Given the description of an element on the screen output the (x, y) to click on. 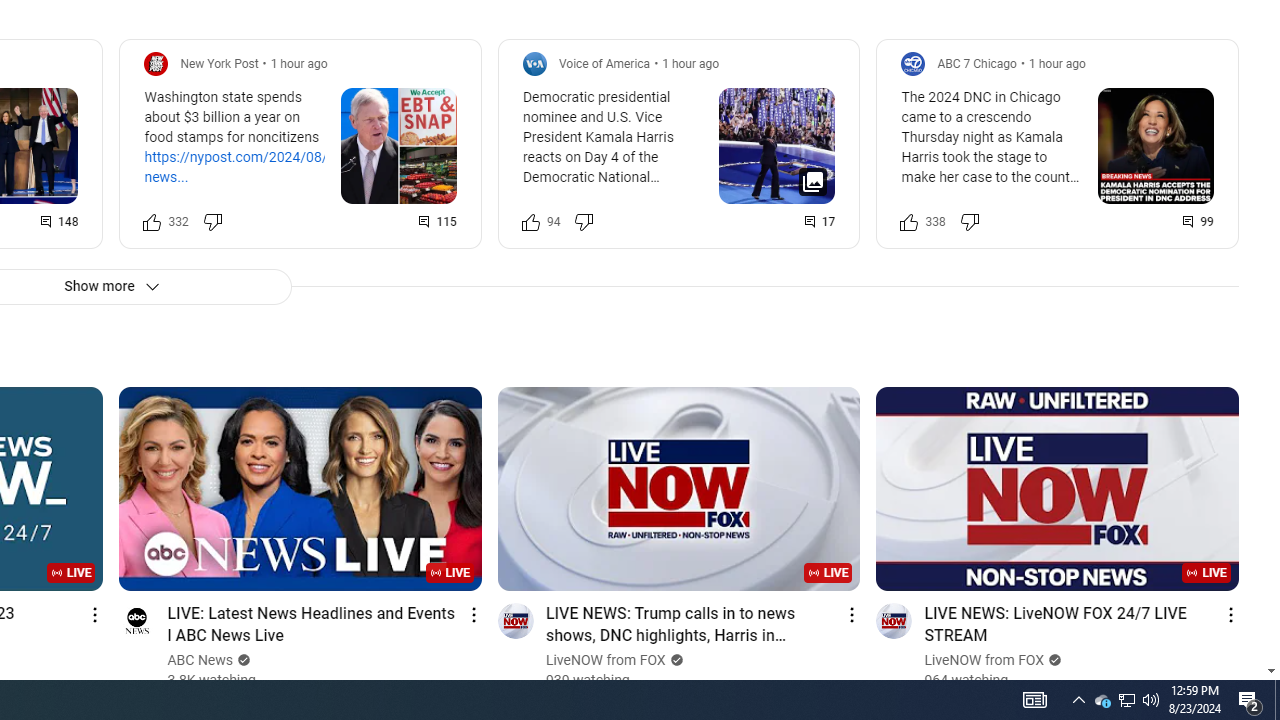
Voice of America (604, 63)
Like this post along with 338 other people (909, 221)
Dislike this post (969, 221)
ABC 7 Chicago (976, 63)
https://nypost.com/2024/08/21/us-news... (255, 166)
New York Post (219, 63)
Action menu (1229, 614)
Verified (1053, 660)
Comment (1199, 221)
Like this post along with 332 other people (151, 221)
ABC News (200, 660)
